Given the description of an element on the screen output the (x, y) to click on. 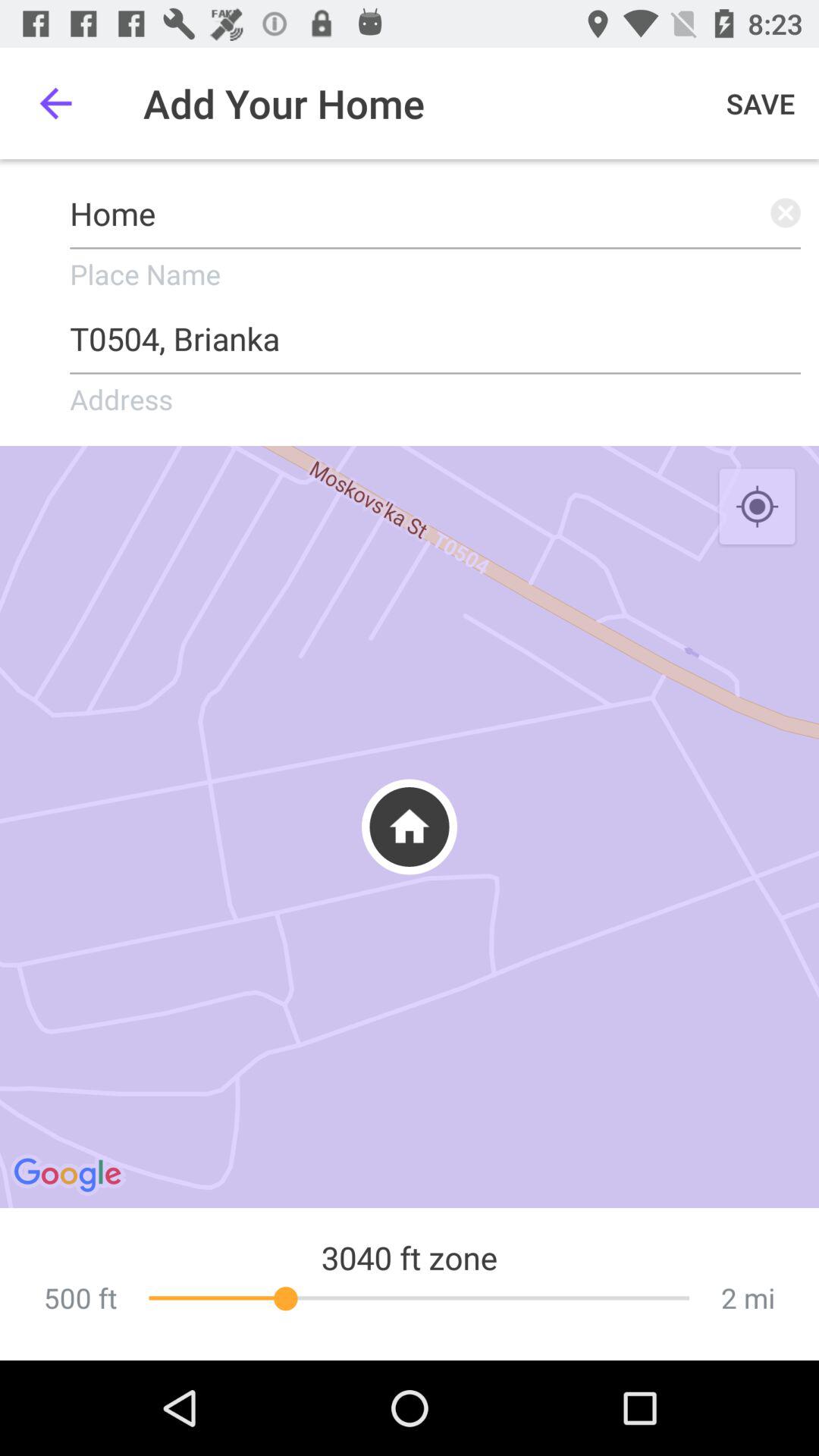
turn off item at the top right corner (760, 103)
